Given the description of an element on the screen output the (x, y) to click on. 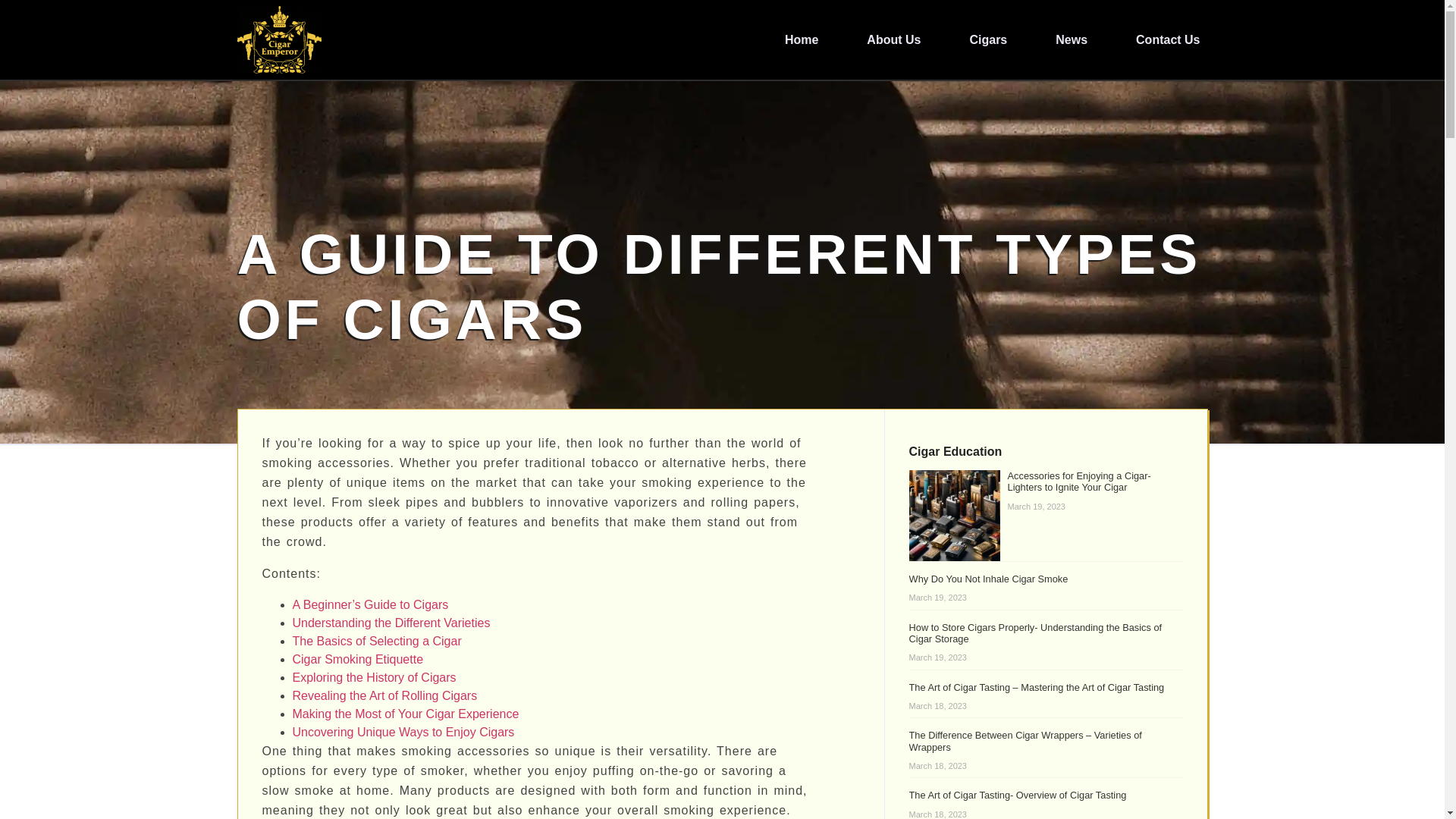
Making the Most of Your Cigar Experience (405, 713)
The Art of Cigar Tasting- Overview of Cigar Tasting (1017, 794)
Revealing the Art of Rolling Cigars (384, 695)
News (1071, 39)
The Basics of Selecting a Cigar (376, 640)
Understanding the Different Varieties (391, 622)
Why Do You Not Inhale Cigar Smoke (988, 578)
About Us (893, 39)
Home (801, 39)
